Given the description of an element on the screen output the (x, y) to click on. 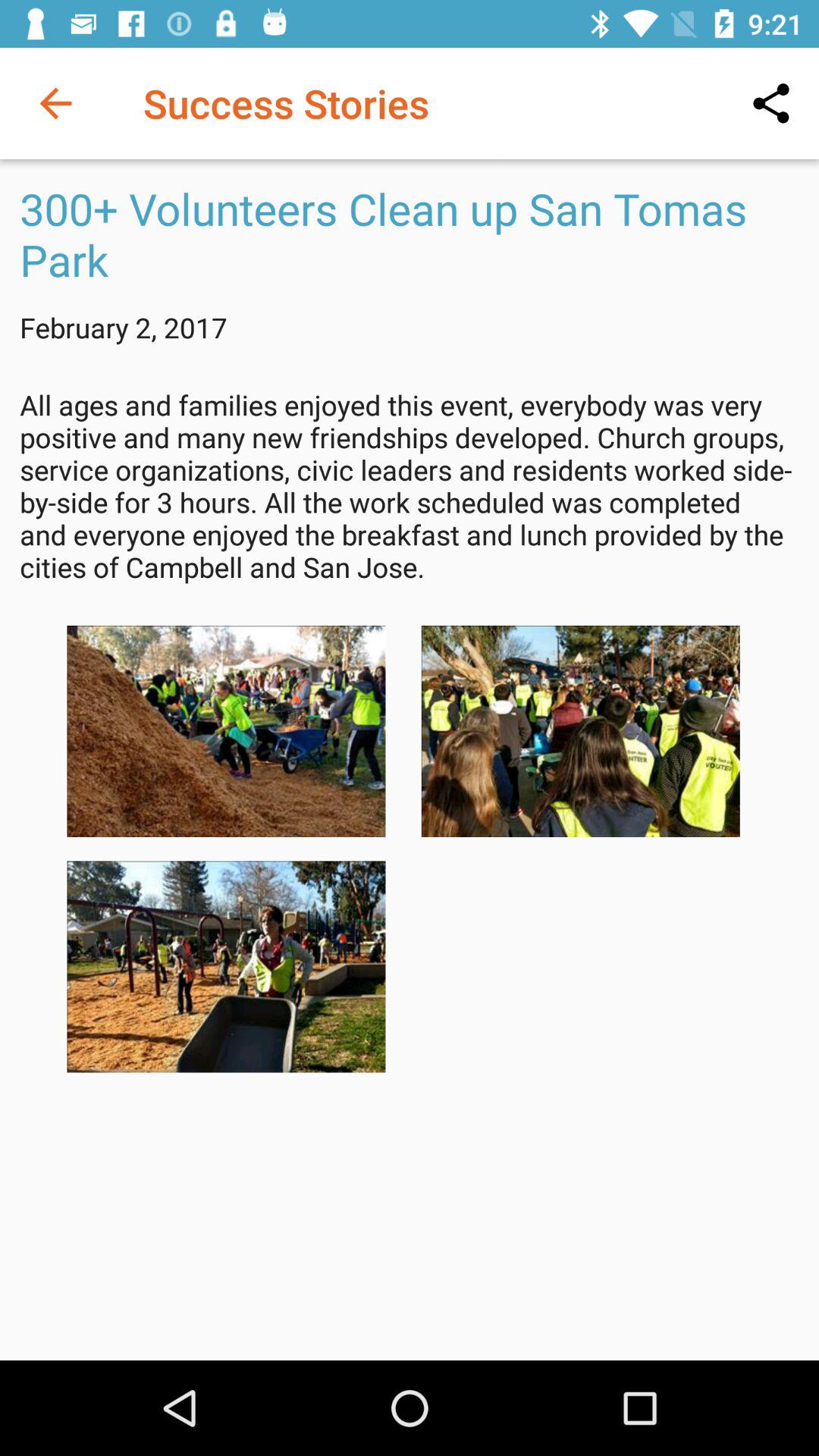
turn on the icon below all ages and item (580, 731)
